Given the description of an element on the screen output the (x, y) to click on. 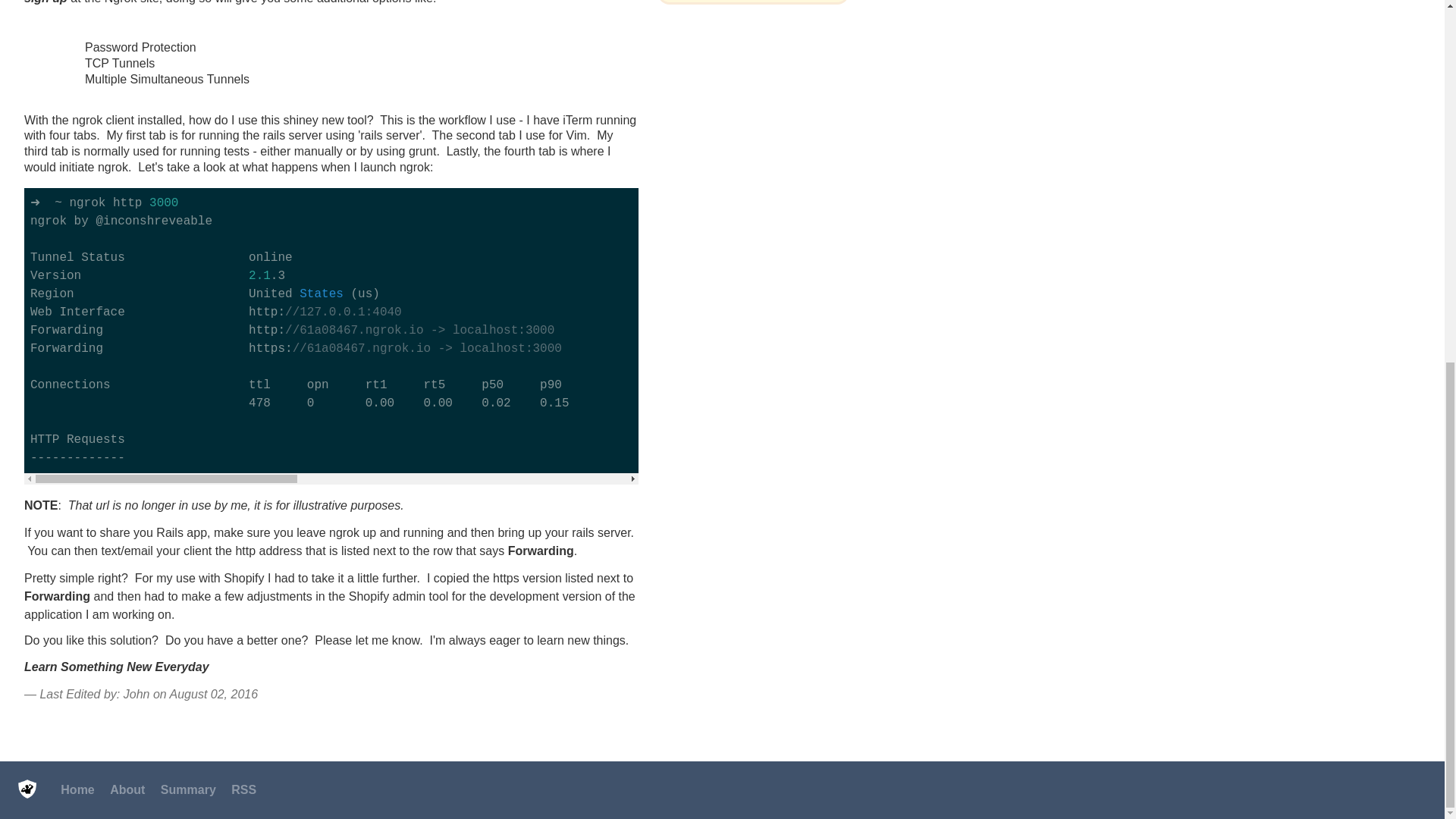
About (127, 789)
Home (77, 789)
Old Guy New Trick RSS Feed (243, 789)
Summary (187, 789)
RSS (243, 789)
